Given the description of an element on the screen output the (x, y) to click on. 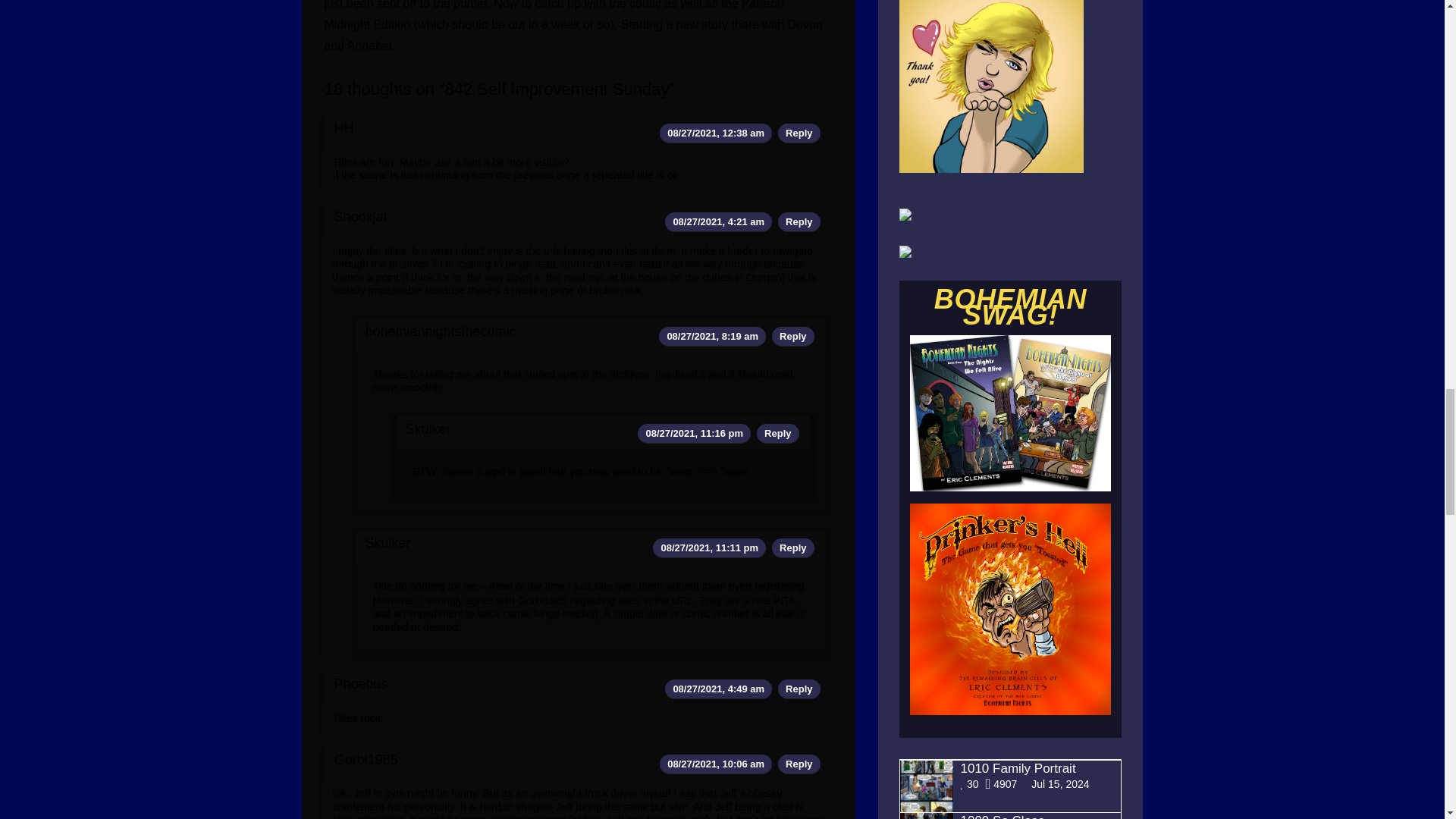
Reply (792, 336)
Reply (777, 432)
Reply (799, 221)
Reply (799, 132)
